Given the description of an element on the screen output the (x, y) to click on. 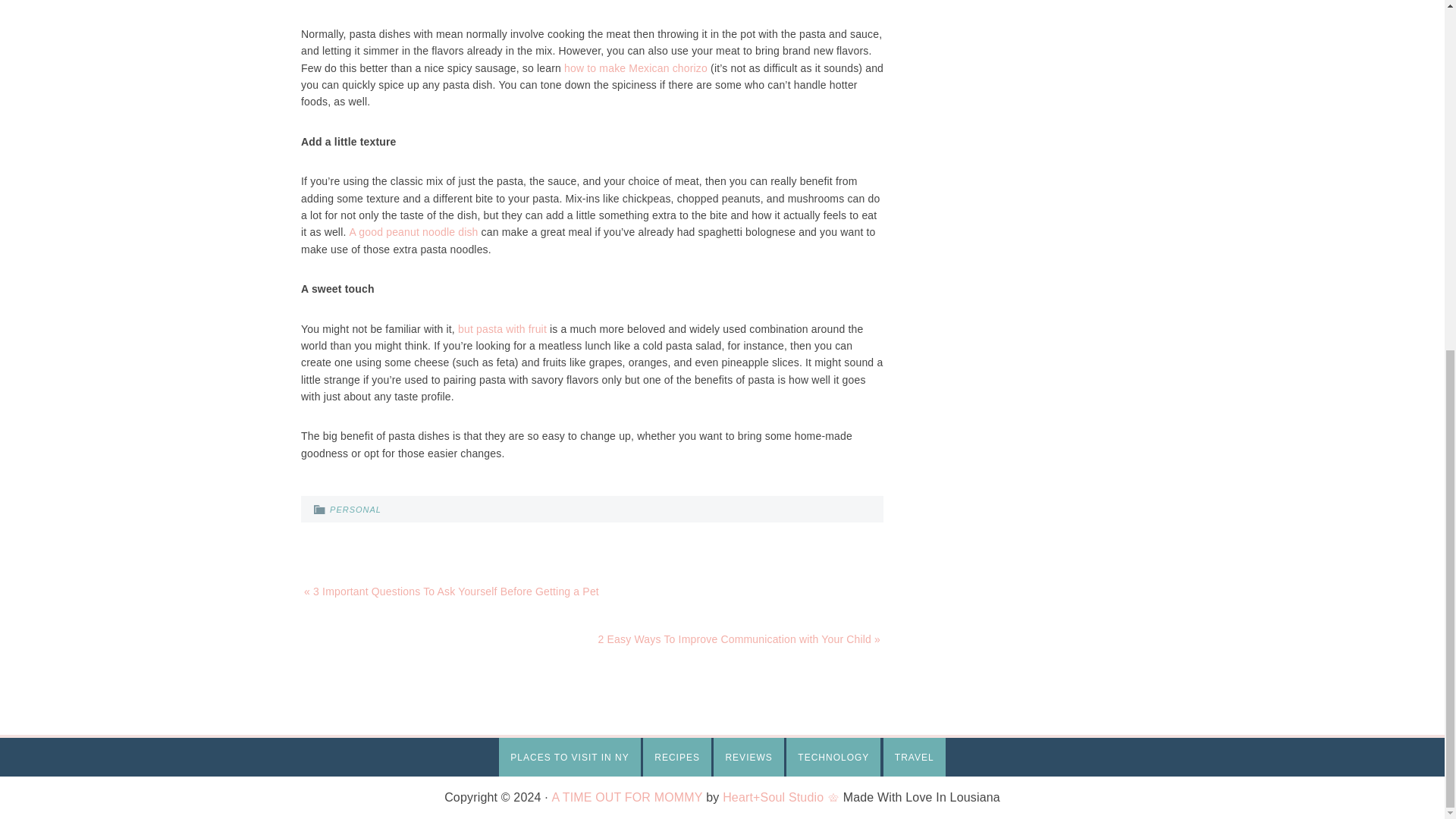
but pasta with fruit (502, 328)
how to make Mexican chorizo (635, 68)
A good peanut noodle dish (414, 232)
PERSONAL (355, 509)
